Given the description of an element on the screen output the (x, y) to click on. 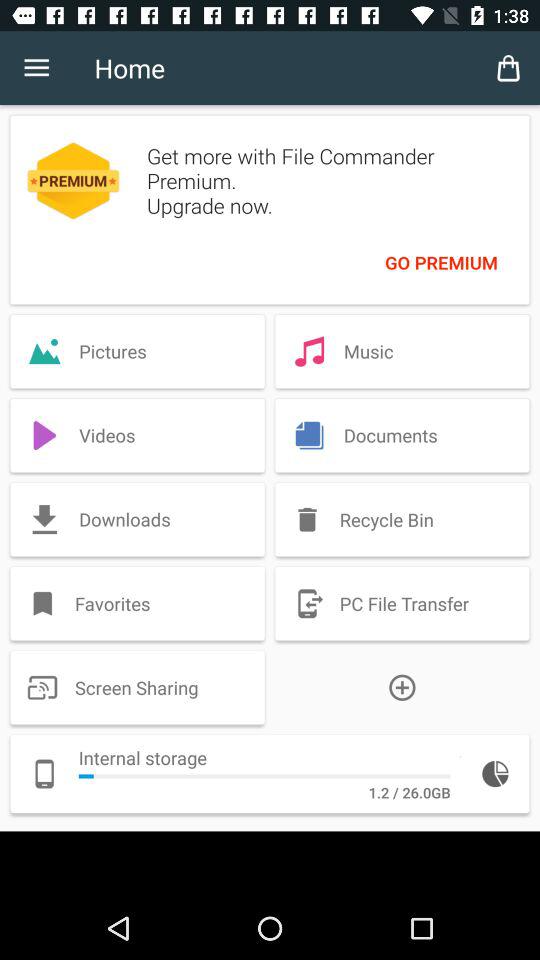
choose icon next to home icon (36, 68)
